Given the description of an element on the screen output the (x, y) to click on. 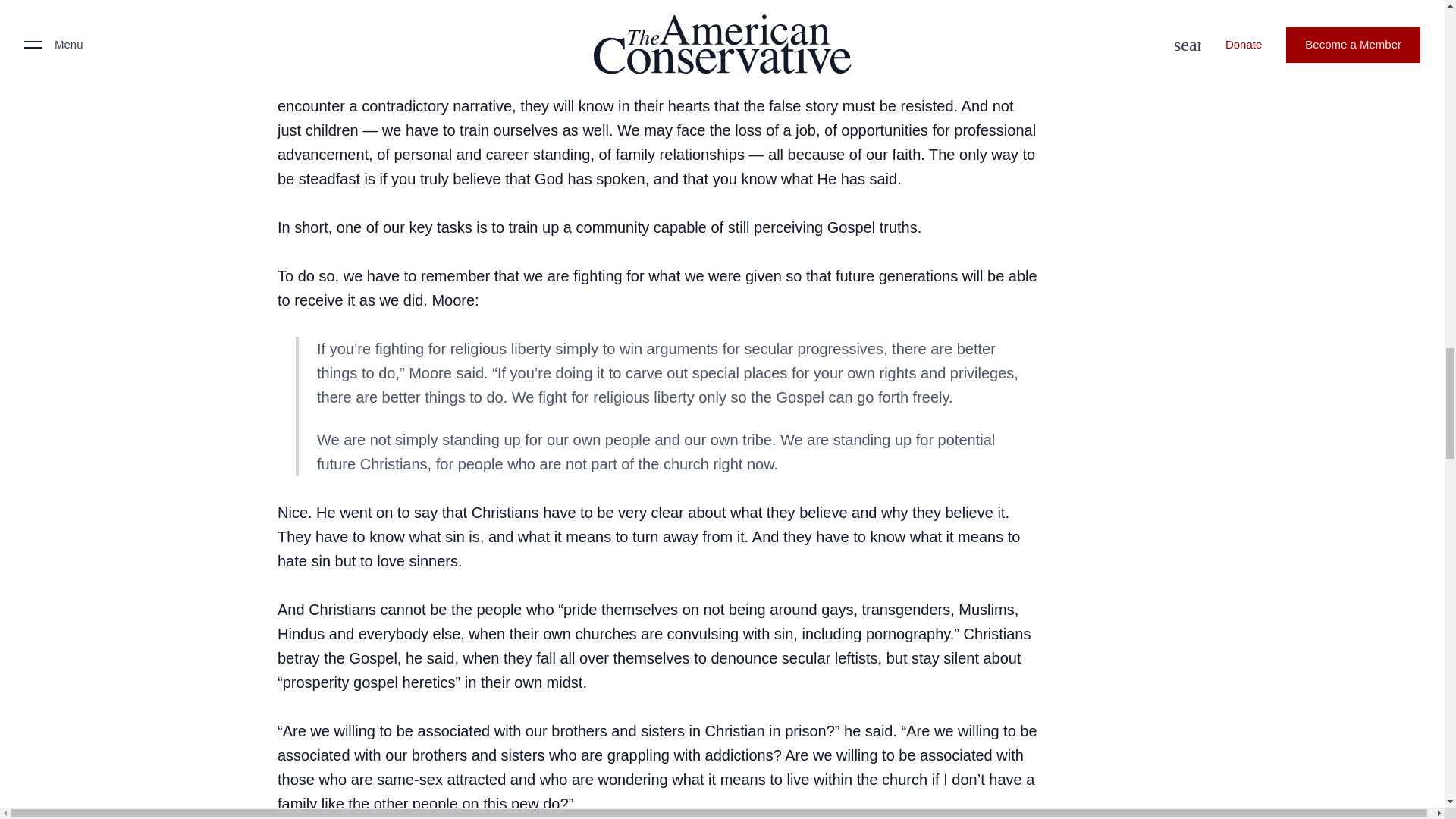
lectio divina (391, 33)
